Given the description of an element on the screen output the (x, y) to click on. 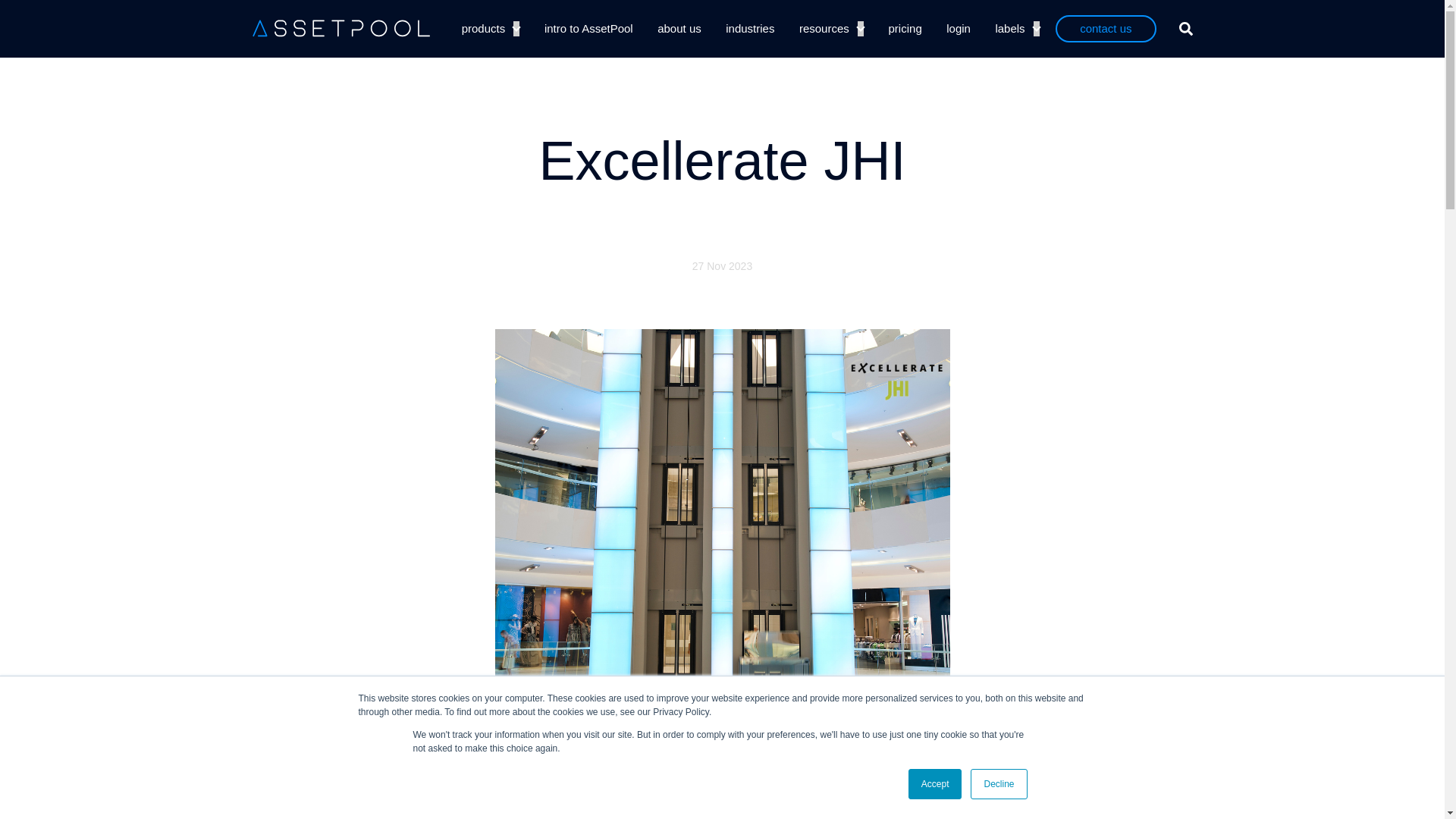
Decline (998, 784)
Accept (935, 784)
Digital Smart Inspection Software by AssetPool (340, 27)
Search toggle (1184, 29)
